Given the description of an element on the screen output the (x, y) to click on. 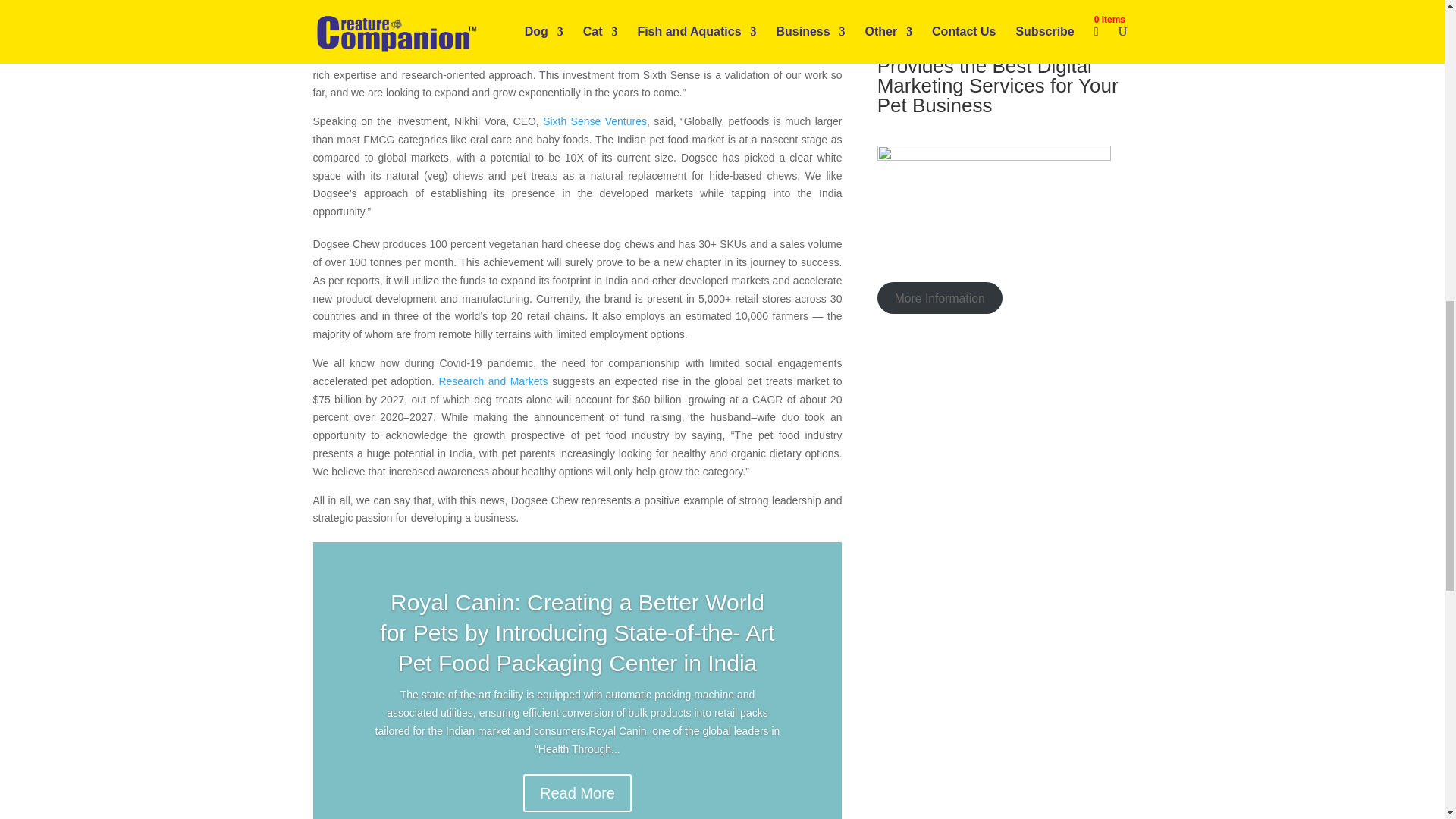
Sixth Sense Ventures (594, 121)
Research and Markets (492, 381)
